Given the description of an element on the screen output the (x, y) to click on. 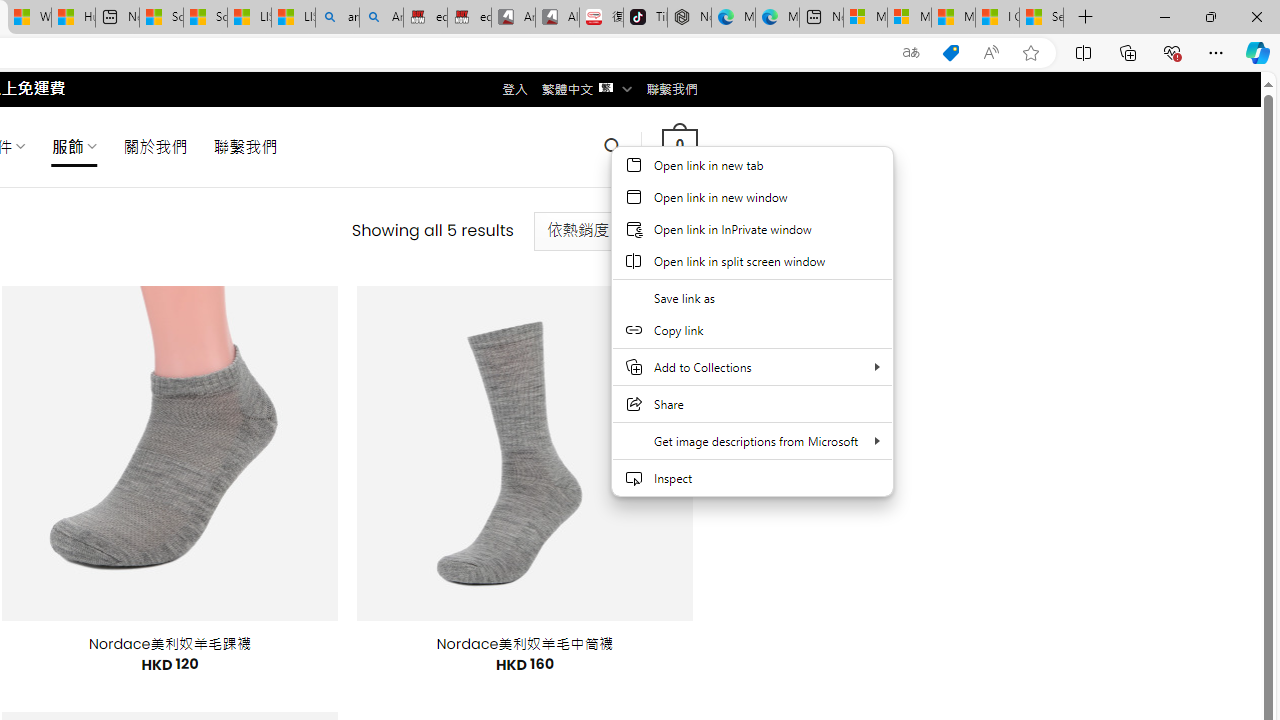
I Gained 20 Pounds of Muscle in 30 Days! | Watch (996, 17)
 0  (679, 146)
Web context (751, 333)
